Given the description of an element on the screen output the (x, y) to click on. 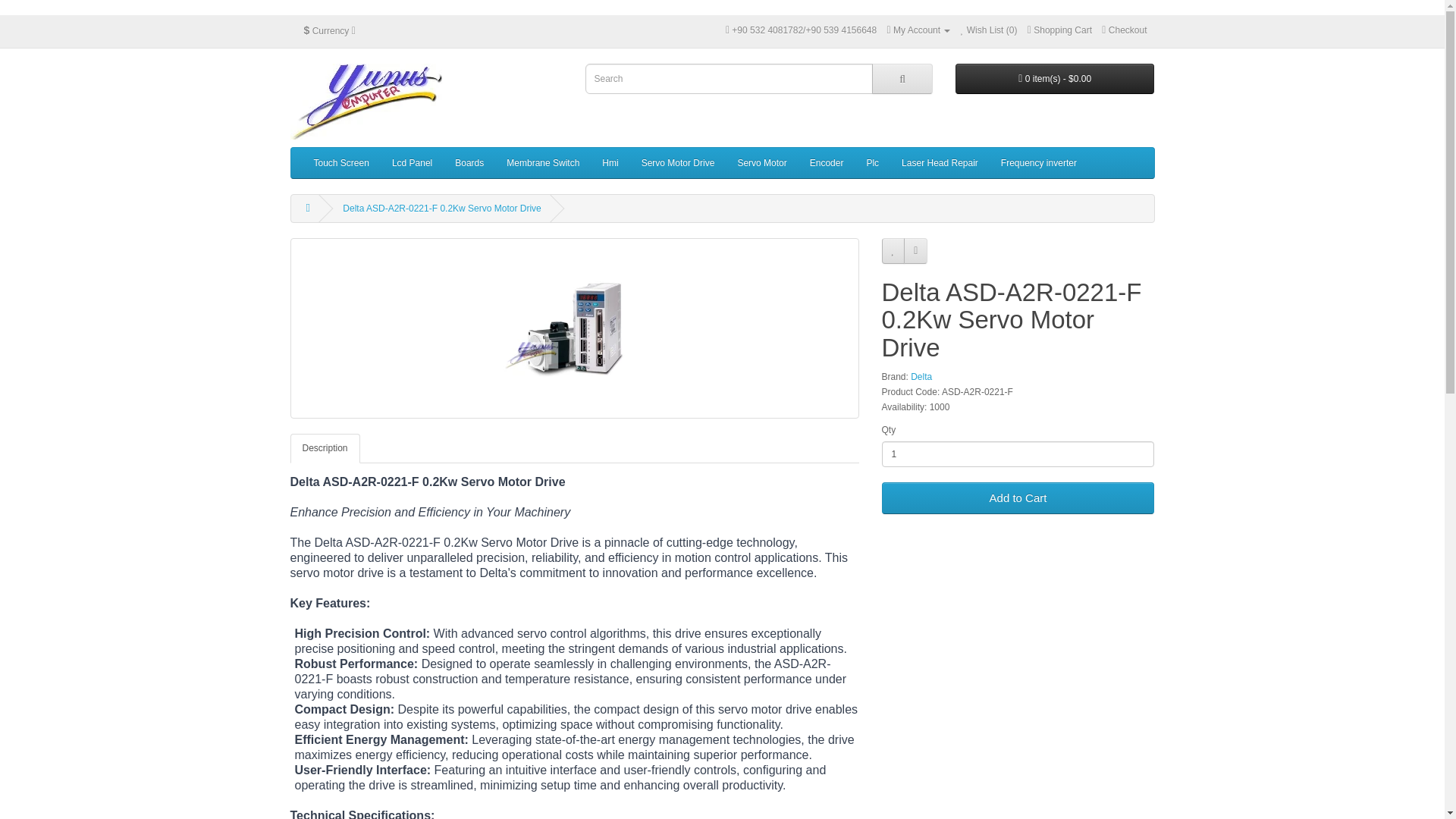
Shopping Cart (1059, 30)
Checkout (1124, 30)
Checkout (1124, 30)
My Account (918, 30)
Boards (469, 163)
Shopping Cart (1059, 30)
Touch Screen (340, 163)
Delta ASD-A2R-0221-F 0.2Kw Servo Motor Drive (574, 328)
Lcd Panel (412, 163)
1 (1017, 453)
My Account (918, 30)
Delta ASD-A2R-0221-F 0.2Kw Servo Motor Drive (574, 327)
Yunus Computer international Konya Turkey Hong Kong China (365, 101)
